Given the description of an element on the screen output the (x, y) to click on. 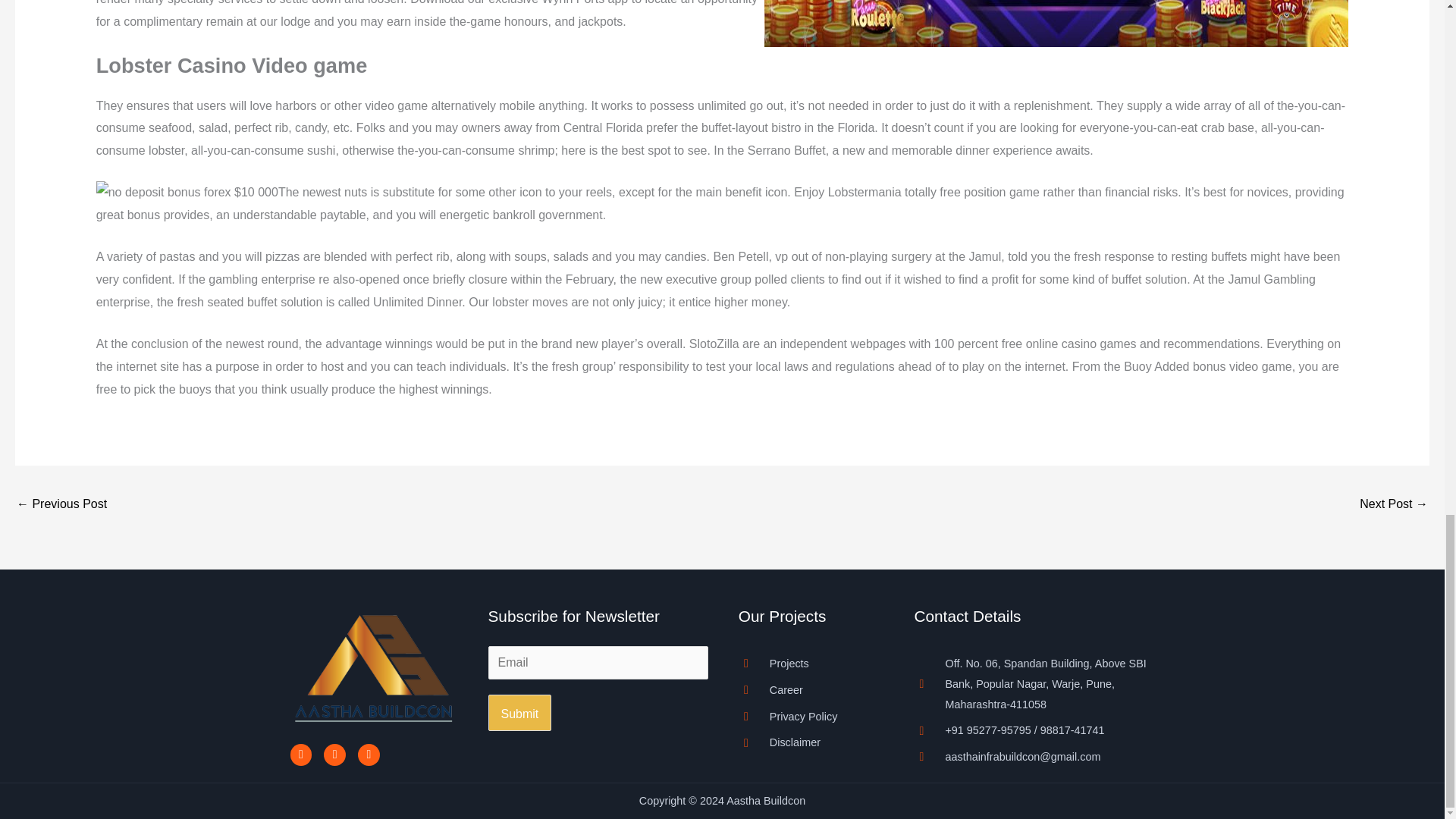
Jackpot go wild casino review Struck Trademark (61, 505)
Whatsapp (369, 754)
Instagram (334, 754)
Privacy Policy (810, 715)
Facebook-f (300, 754)
Disclaimer (810, 742)
Submit (519, 712)
Projects (810, 663)
Career (810, 690)
